Given the description of an element on the screen output the (x, y) to click on. 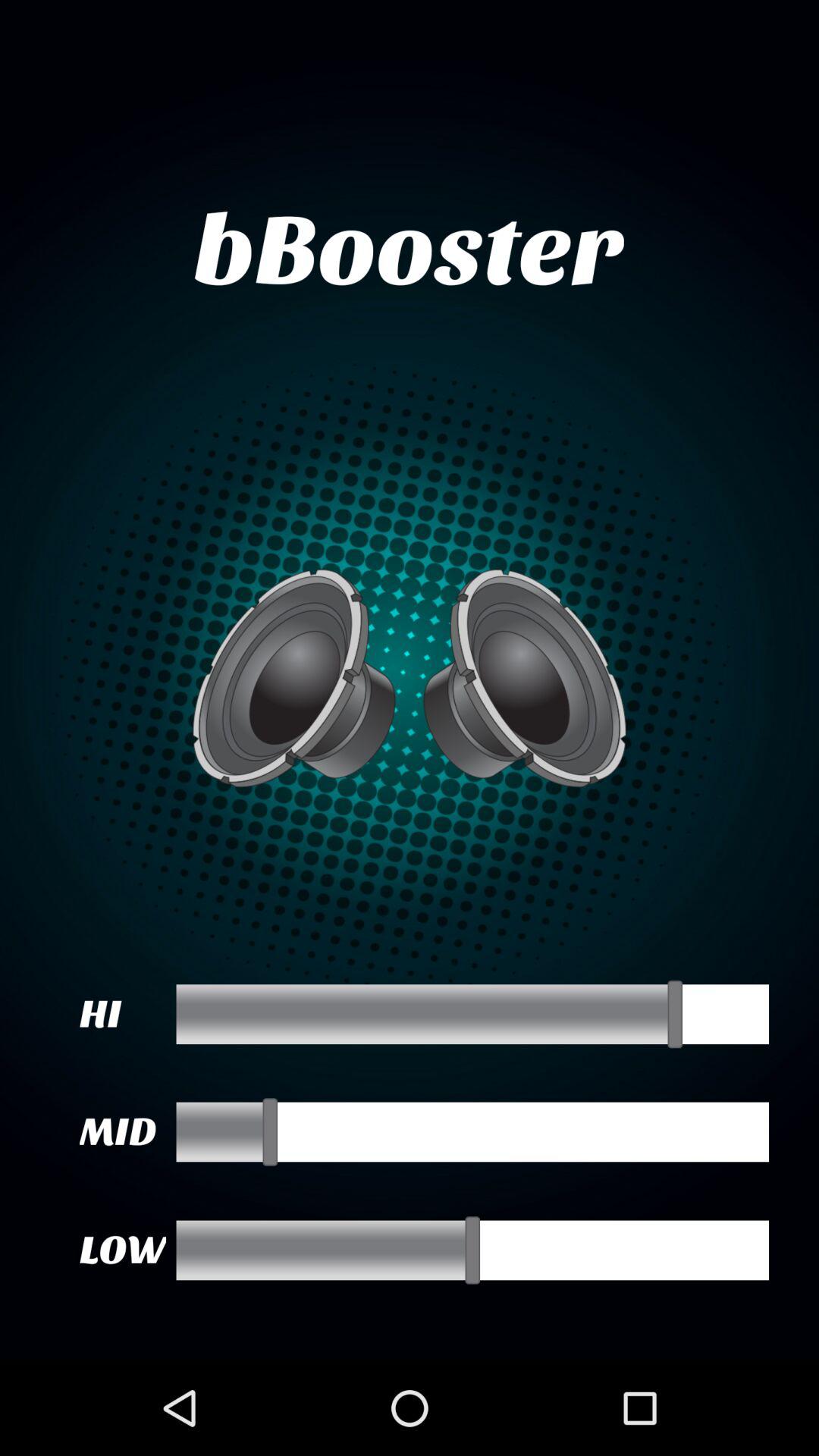
click item at the center (409, 678)
